Given the description of an element on the screen output the (x, y) to click on. 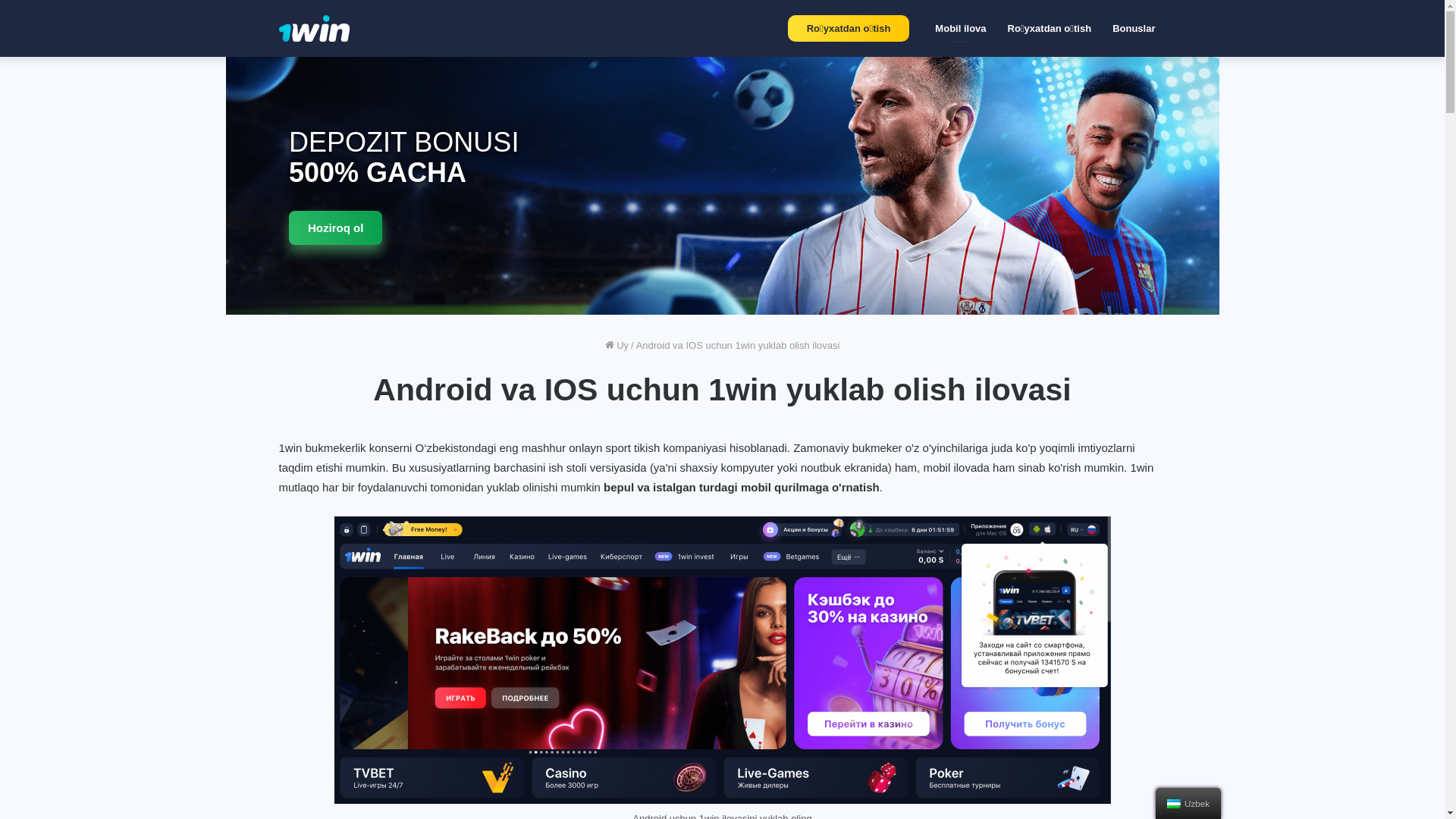
Uzbek Element type: hover (1173, 803)
Mobil ilova Element type: text (960, 28)
Bonuslar Element type: text (1133, 28)
Hoziroq ol Element type: text (335, 227)
Uy Element type: text (617, 345)
